Given the description of an element on the screen output the (x, y) to click on. 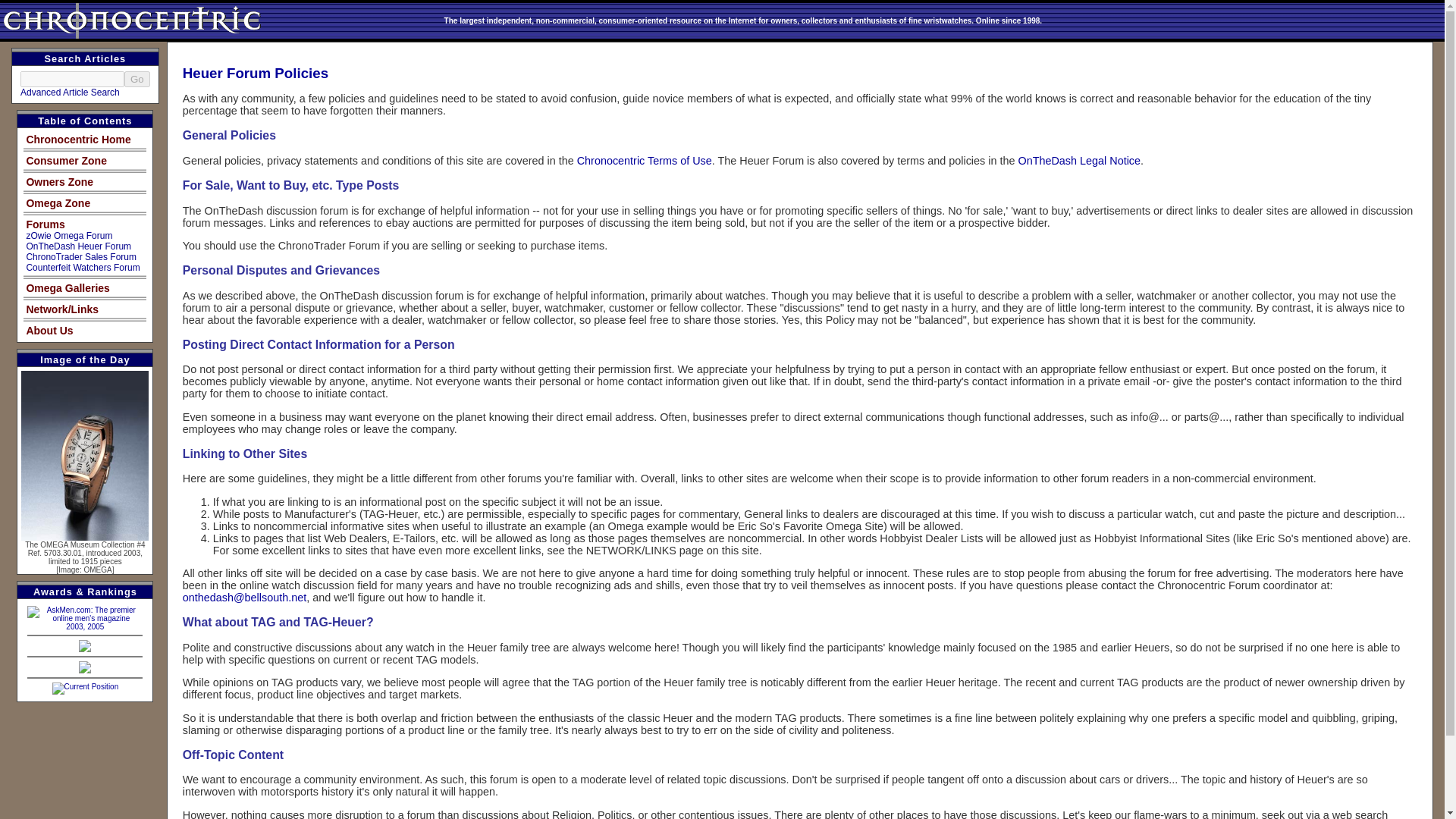
About Us (49, 330)
Owners Zone (59, 182)
2003, 2005 (84, 622)
zOwie Omega Forum (69, 235)
Go (136, 78)
Counterfeit Watchers Forum (82, 267)
Advanced Article Search (69, 91)
OnTheDash Legal Notice (1078, 160)
Omega Galleries (68, 287)
Omega Zone (58, 203)
Consumer Zone (66, 160)
OnTheDash Heuer Forum (78, 245)
Forums (45, 224)
ChronoTrader Sales Forum (81, 256)
Chronocentric Terms of Use (643, 160)
